Given the description of an element on the screen output the (x, y) to click on. 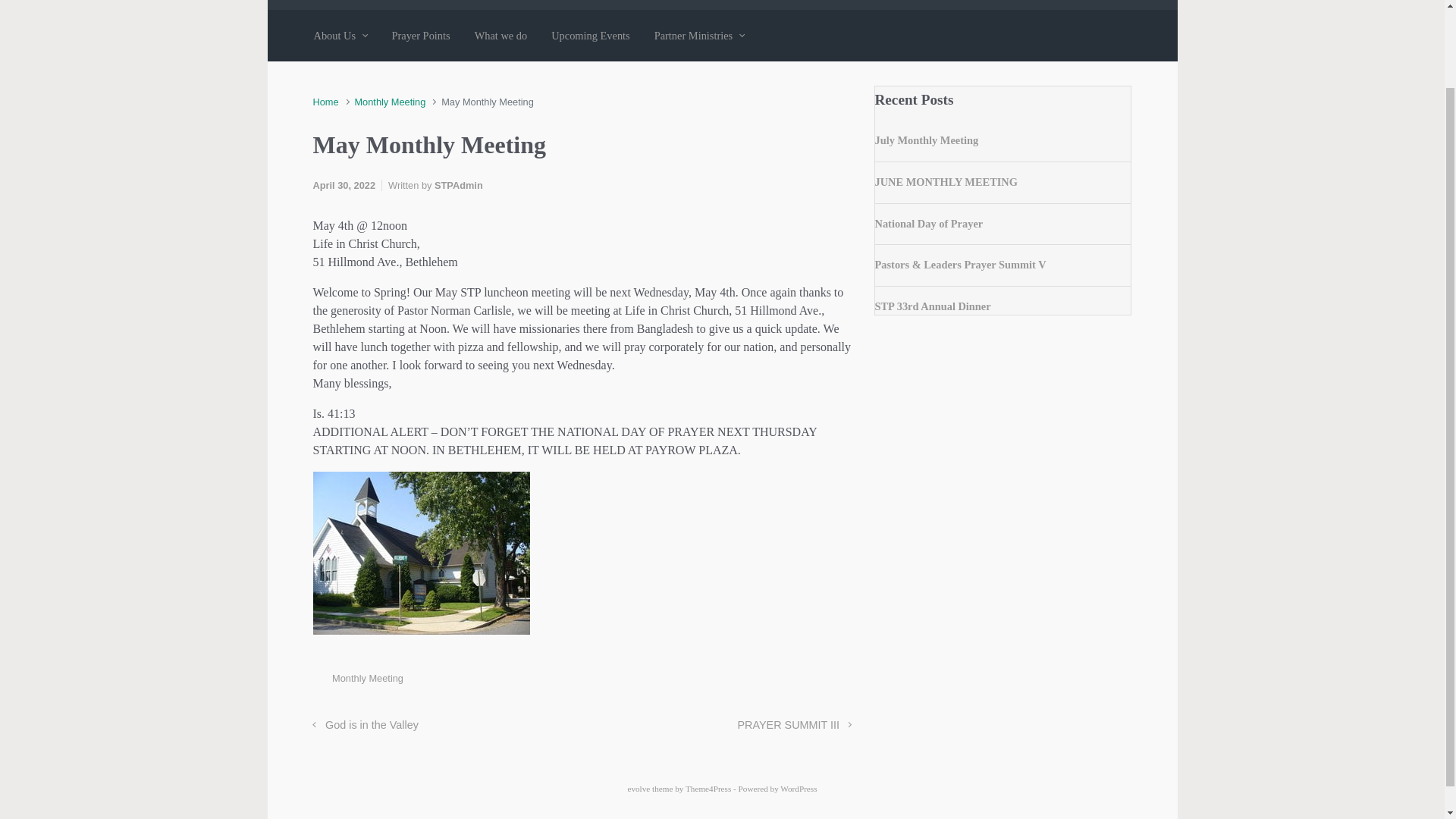
Partner Ministries (699, 35)
View all posts by STPAdmin (458, 184)
Monthly Meeting (367, 677)
STPAdmin (458, 184)
What we do (501, 35)
Monthly Meeting (389, 101)
About Us (340, 35)
Monthly Meeting (389, 101)
God is in the Valley (365, 725)
Upcoming Events (590, 35)
Prayer Points (420, 35)
Home (325, 101)
